Given the description of an element on the screen output the (x, y) to click on. 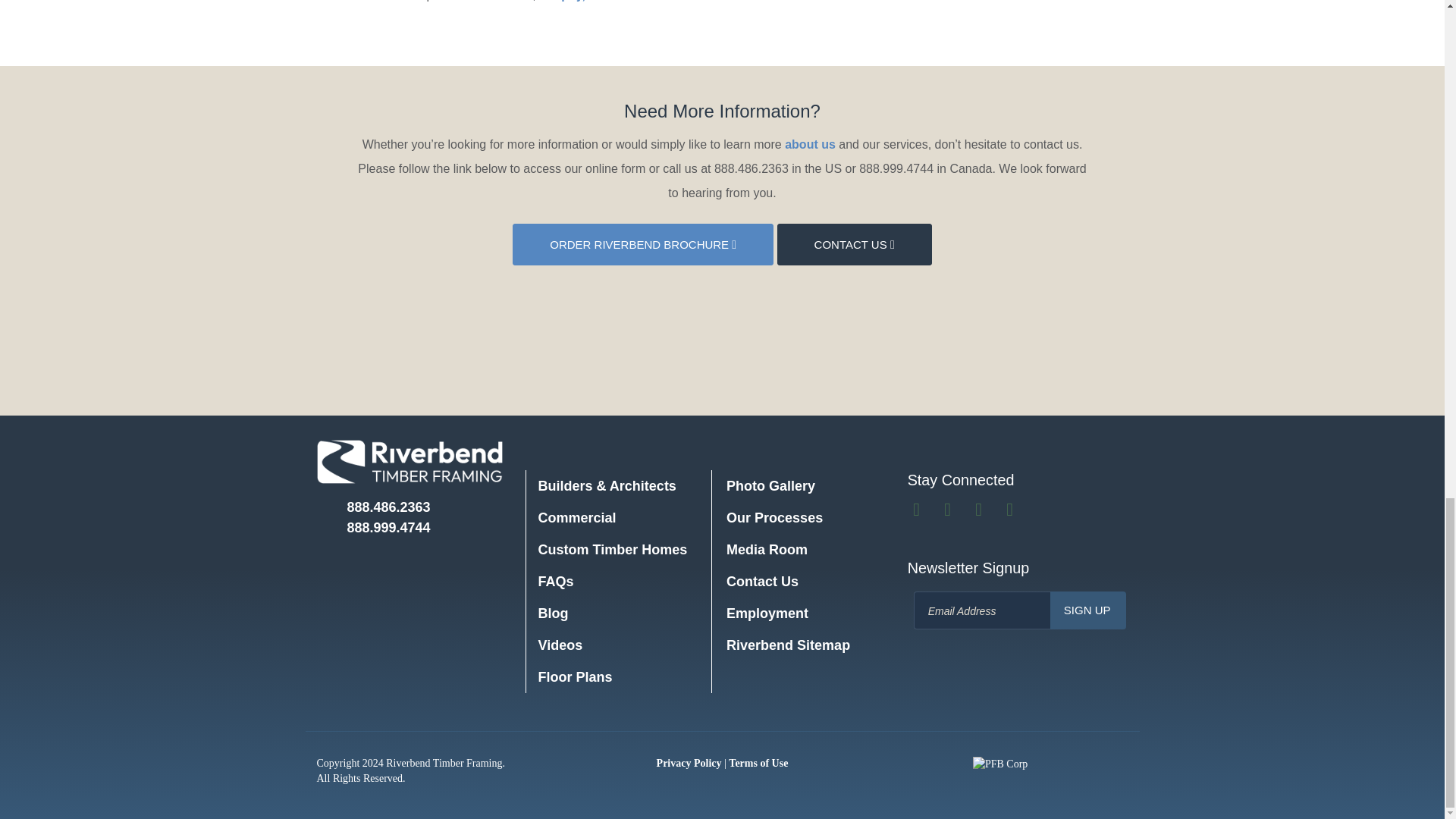
Social Media Link (949, 510)
Social Media Link (917, 510)
Phone Number (373, 507)
Phone Number (373, 527)
Privacy Policy (689, 763)
Social Media Link (980, 510)
Contact Us (854, 244)
Order Riverbend Brochure (642, 244)
Social Media Link (1011, 510)
